Given the description of an element on the screen output the (x, y) to click on. 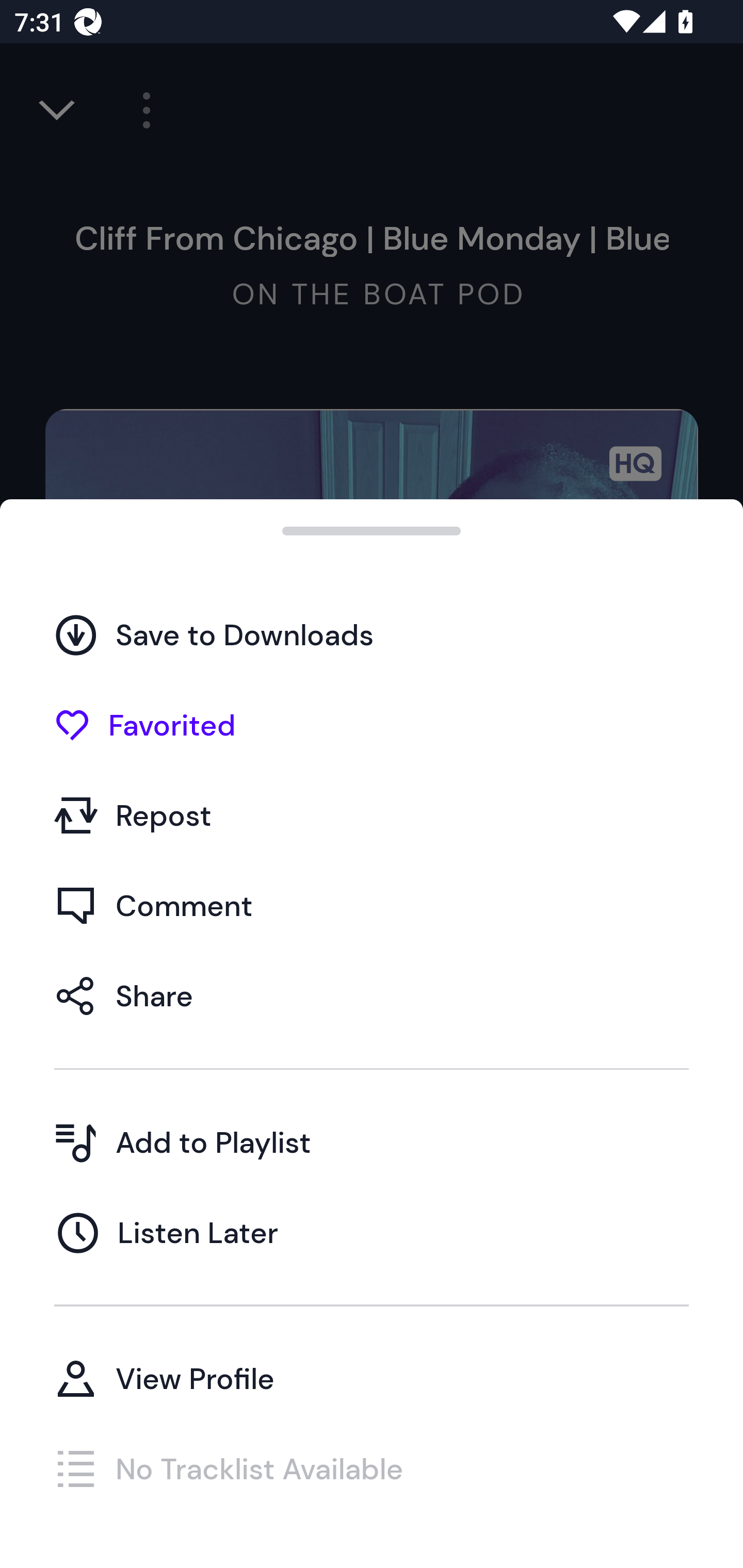
Close full player (58, 110)
Player more options button (139, 110)
Save to Downloads (371, 634)
Favorited (371, 724)
Repost (371, 814)
Comment (371, 905)
Share (371, 995)
Add to Playlist (371, 1141)
Listen Later (371, 1231)
View Profile (371, 1377)
No Tracklist Available (371, 1468)
